Given the description of an element on the screen output the (x, y) to click on. 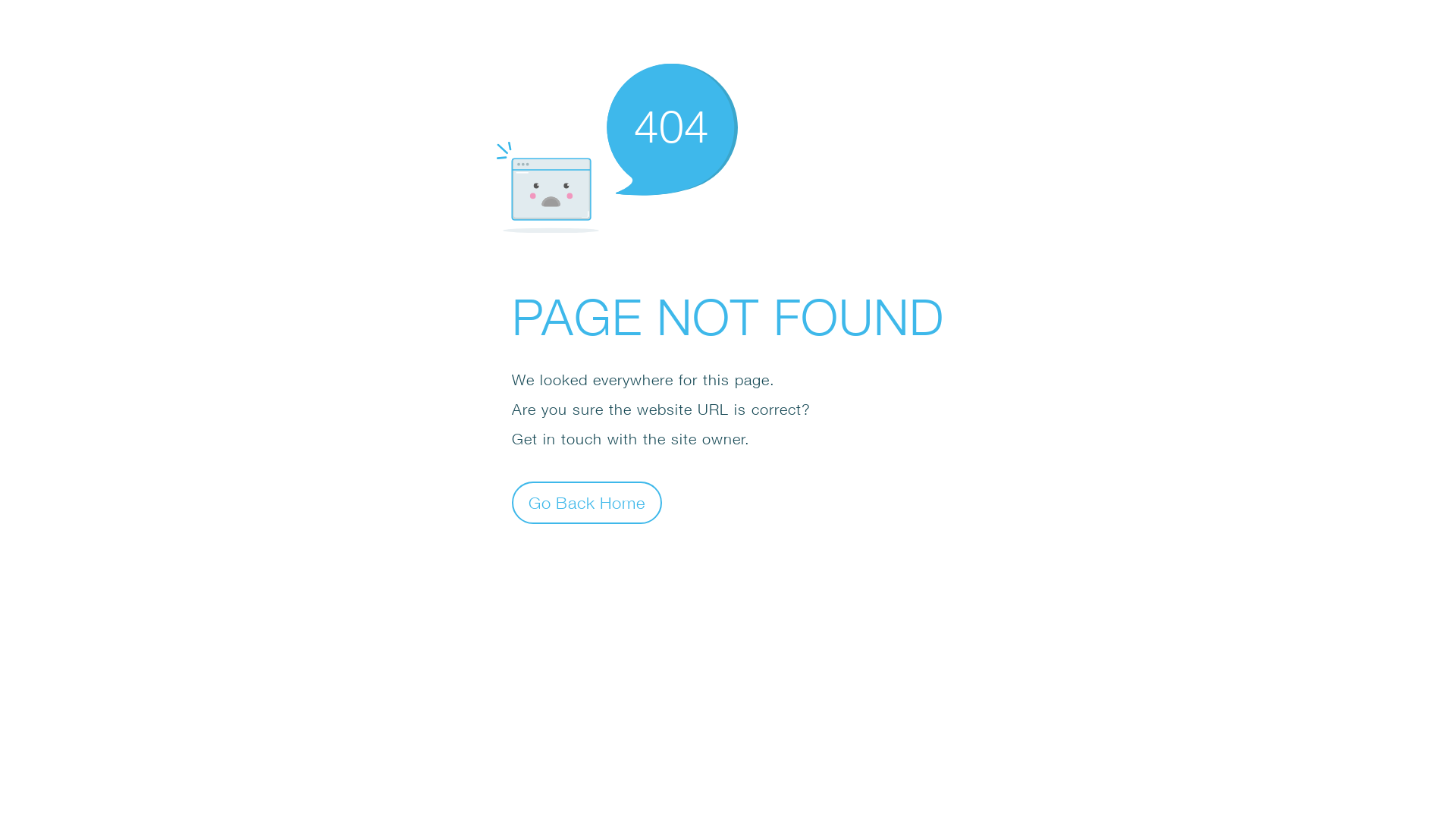
Go Back Home Element type: text (586, 502)
